Given the description of an element on the screen output the (x, y) to click on. 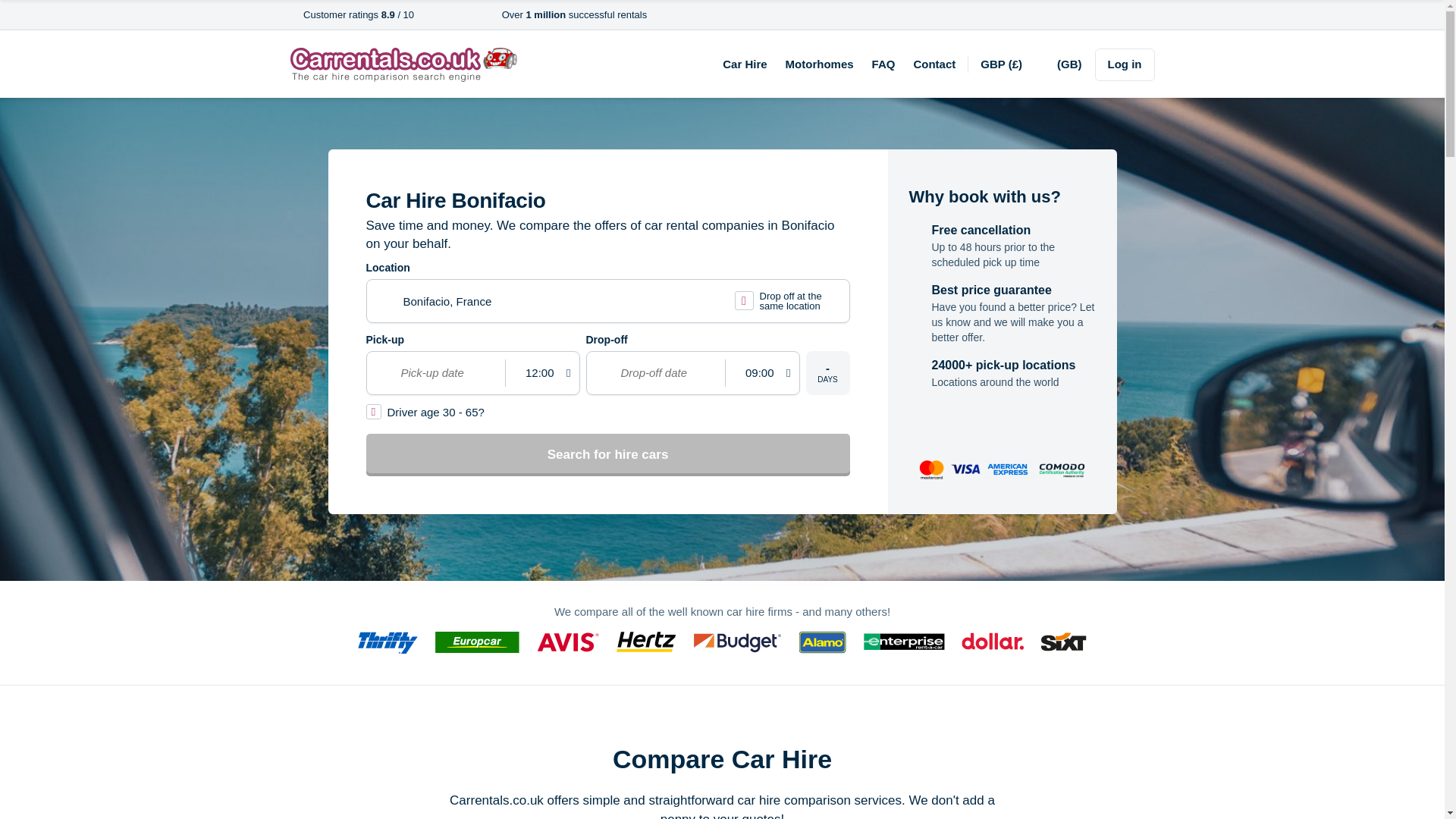
Search for hire cars (606, 454)
Motorhomes (819, 63)
09:00 (759, 372)
Contact (933, 63)
12:00 (539, 372)
globe-regular (1047, 65)
Car Hire (744, 63)
FAQ (883, 63)
